Given the description of an element on the screen output the (x, y) to click on. 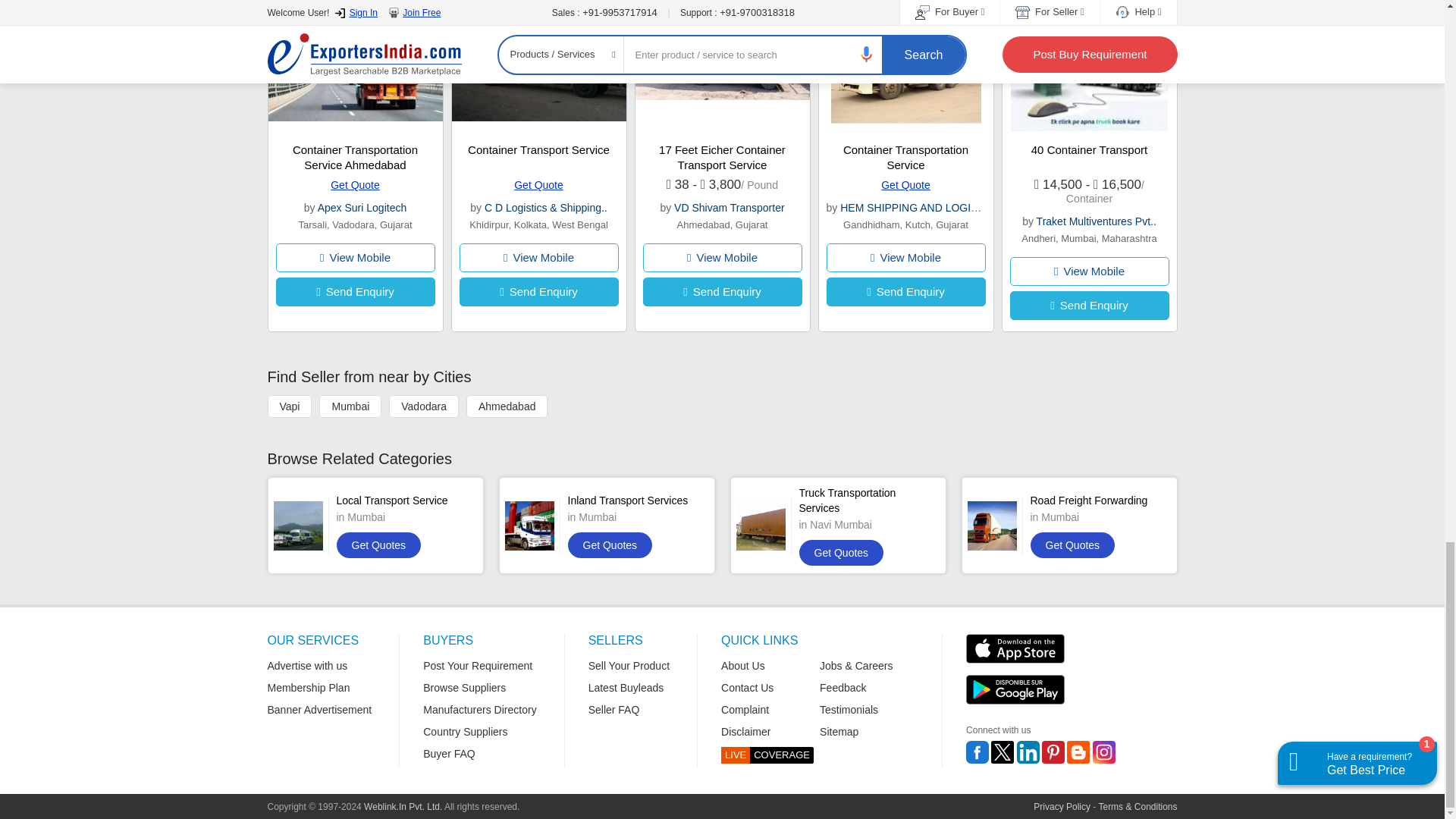
Container Transport Service (538, 149)
40 Container Transport (1088, 149)
17 Feet Eicher Container Transport Service (722, 157)
Container Transportation Service (905, 157)
Container Transportation Service Ahmedabad (354, 157)
